Given the description of an element on the screen output the (x, y) to click on. 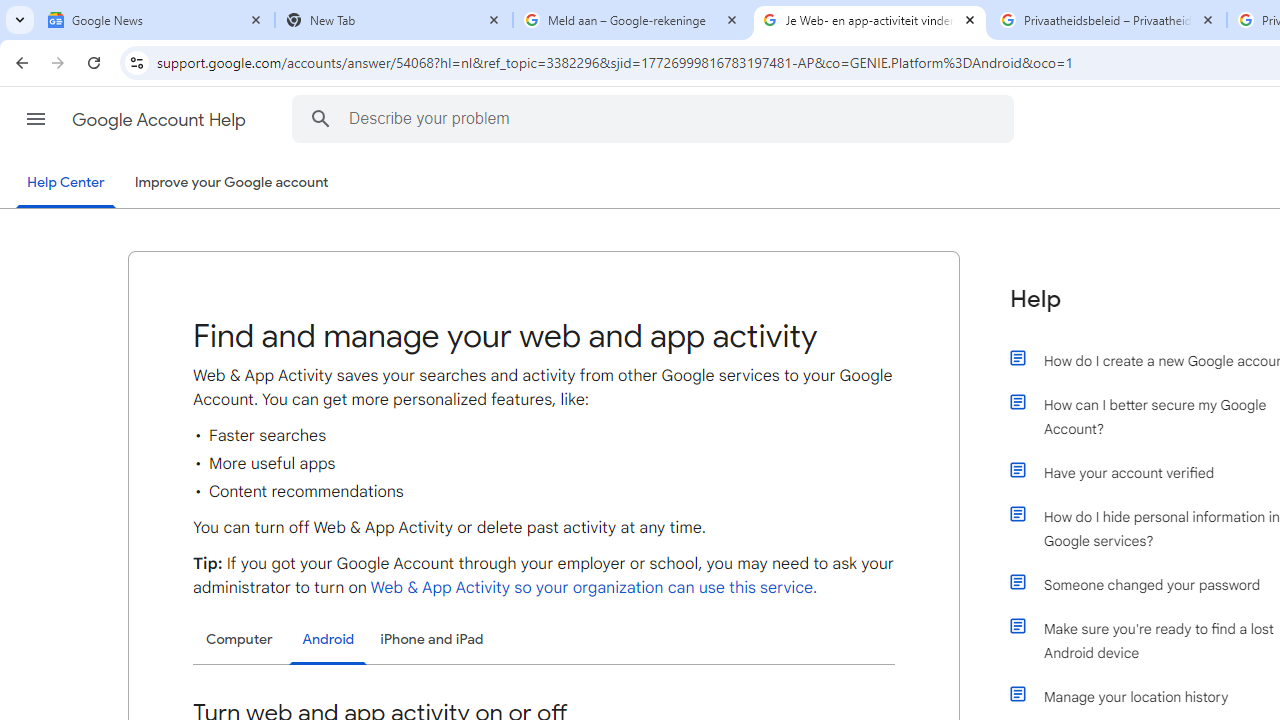
New Tab (394, 20)
Forward (57, 62)
System (10, 11)
Computer (239, 639)
Help Center (65, 183)
System (10, 11)
Search the Help Center (320, 118)
